Given the description of an element on the screen output the (x, y) to click on. 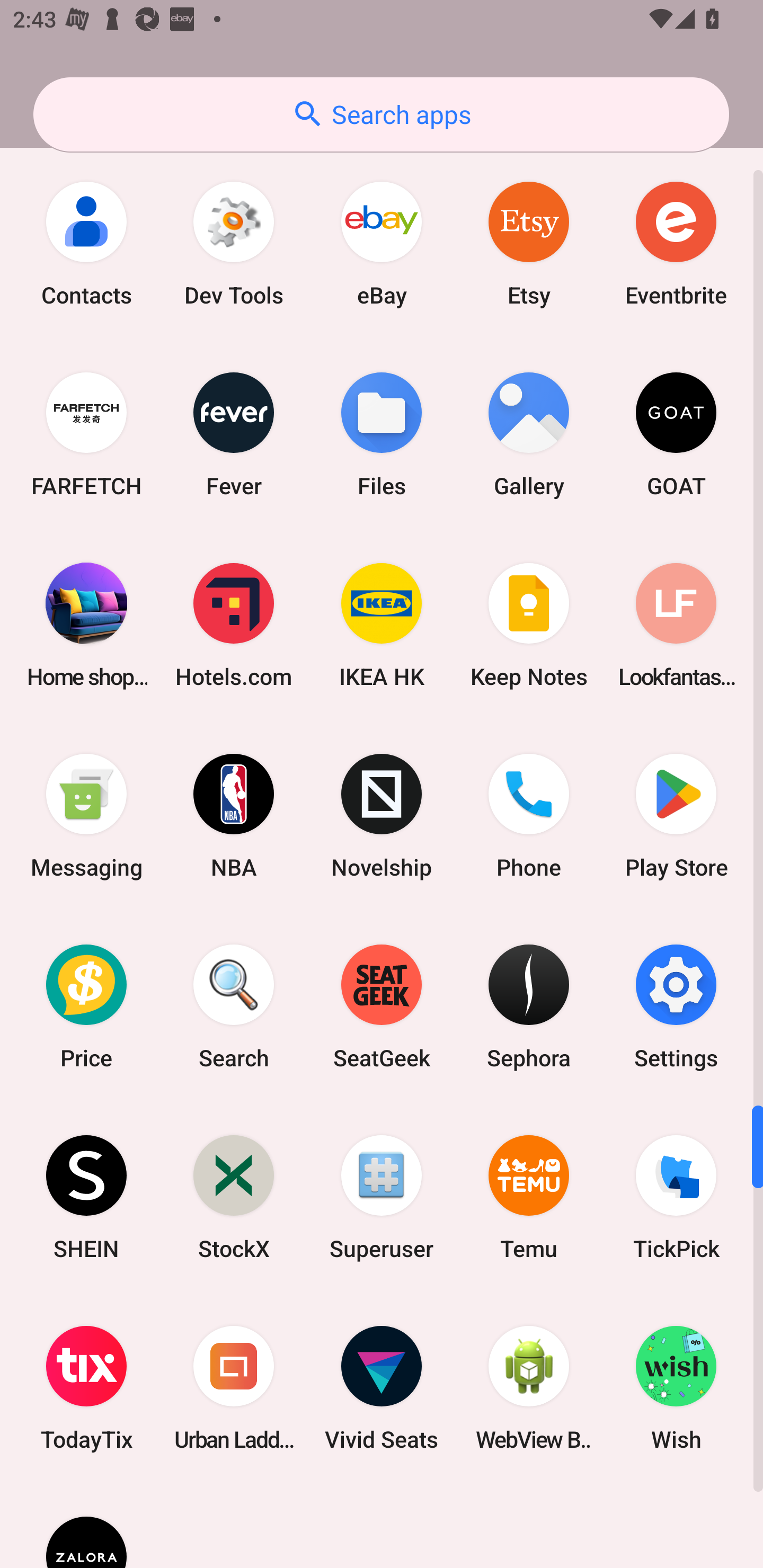
  Search apps (381, 114)
Contacts (86, 243)
Dev Tools (233, 243)
eBay (381, 243)
Etsy (528, 243)
Eventbrite (676, 243)
FARFETCH (86, 433)
Fever (233, 433)
Files (381, 433)
Gallery (528, 433)
GOAT (676, 433)
Home shopping (86, 624)
Hotels.com (233, 624)
IKEA HK (381, 624)
Keep Notes (528, 624)
Lookfantastic (676, 624)
Messaging (86, 815)
NBA (233, 815)
Novelship (381, 815)
Phone (528, 815)
Play Store (676, 815)
Price (86, 1006)
Search (233, 1006)
SeatGeek (381, 1006)
Sephora (528, 1006)
Settings (676, 1006)
SHEIN (86, 1197)
StockX (233, 1197)
Superuser (381, 1197)
Temu (528, 1197)
TickPick (676, 1197)
TodayTix (86, 1387)
Urban Ladder (233, 1387)
Vivid Seats (381, 1387)
WebView Browser Tester (528, 1387)
Wish (676, 1387)
